Given the description of an element on the screen output the (x, y) to click on. 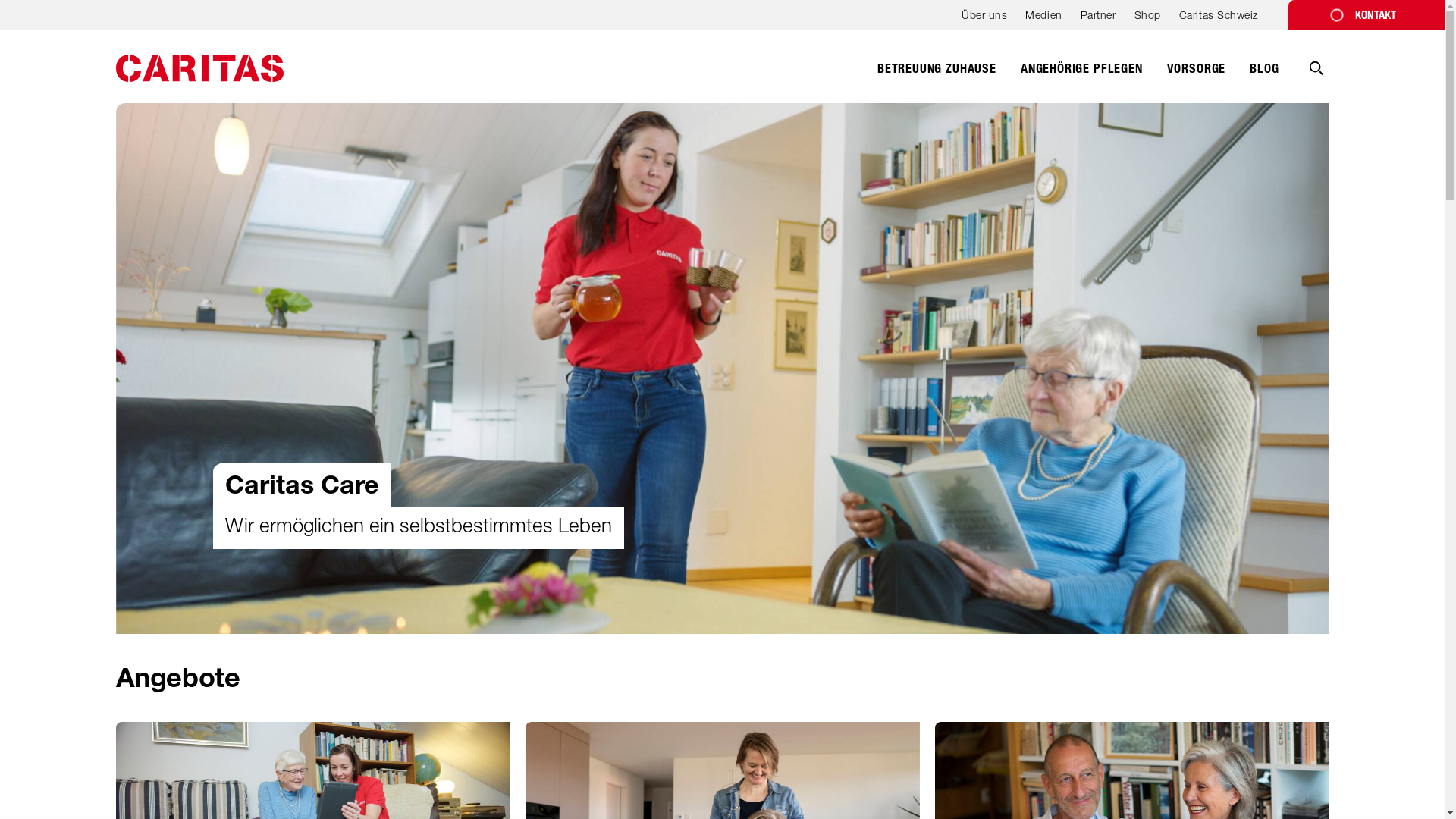
VORSORGE Element type: text (1196, 76)
KONTAKT Element type: text (1366, 15)
Suche Element type: text (1315, 78)
Caritas Schweiz Element type: text (1218, 19)
Partner Element type: text (1098, 19)
BLOG Element type: text (1263, 76)
Shop Element type: text (1147, 19)
Medien Element type: text (1043, 19)
BETREUUNG ZUHAUSE Element type: text (936, 76)
